Given the description of an element on the screen output the (x, y) to click on. 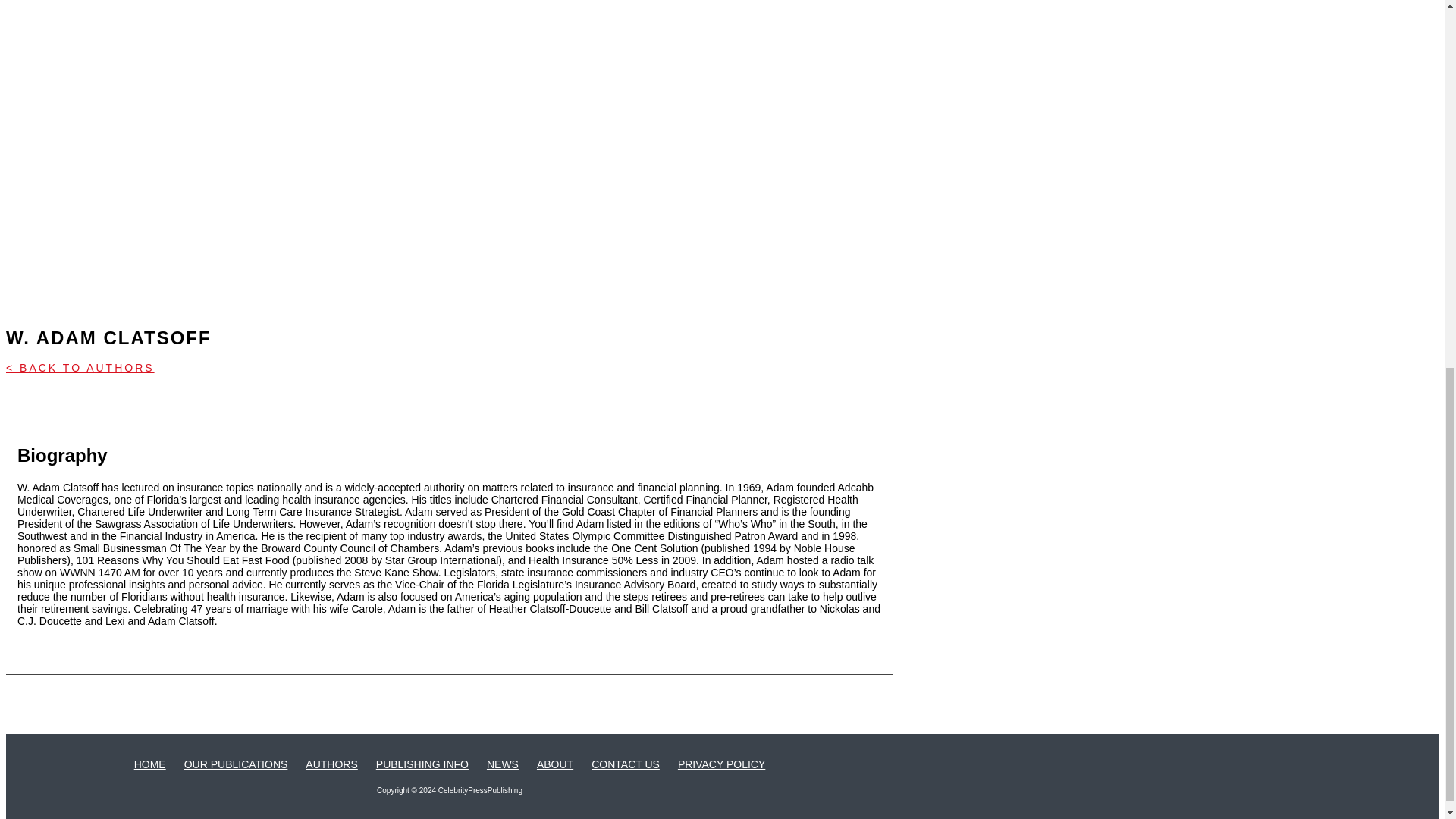
OUR PUBLICATIONS (236, 764)
AUTHORS (330, 764)
PRIVACY POLICY (721, 764)
NEWS (502, 764)
PUBLISHING INFO (421, 764)
ABOUT (555, 764)
HOME (149, 764)
CONTACT US (625, 764)
